Given the description of an element on the screen output the (x, y) to click on. 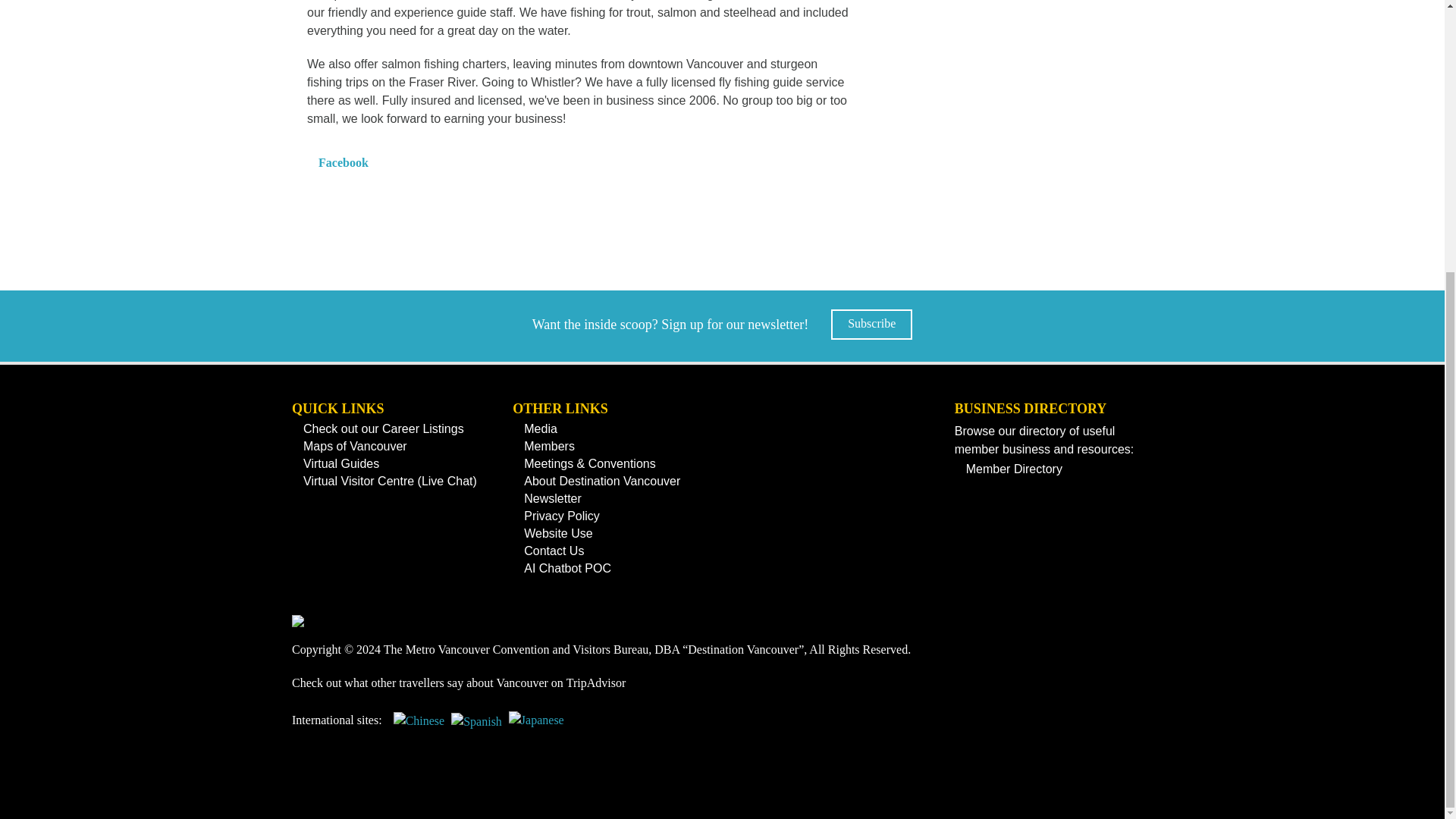
Spanish (476, 727)
Chinese (419, 726)
Japanese (536, 726)
